Given the description of an element on the screen output the (x, y) to click on. 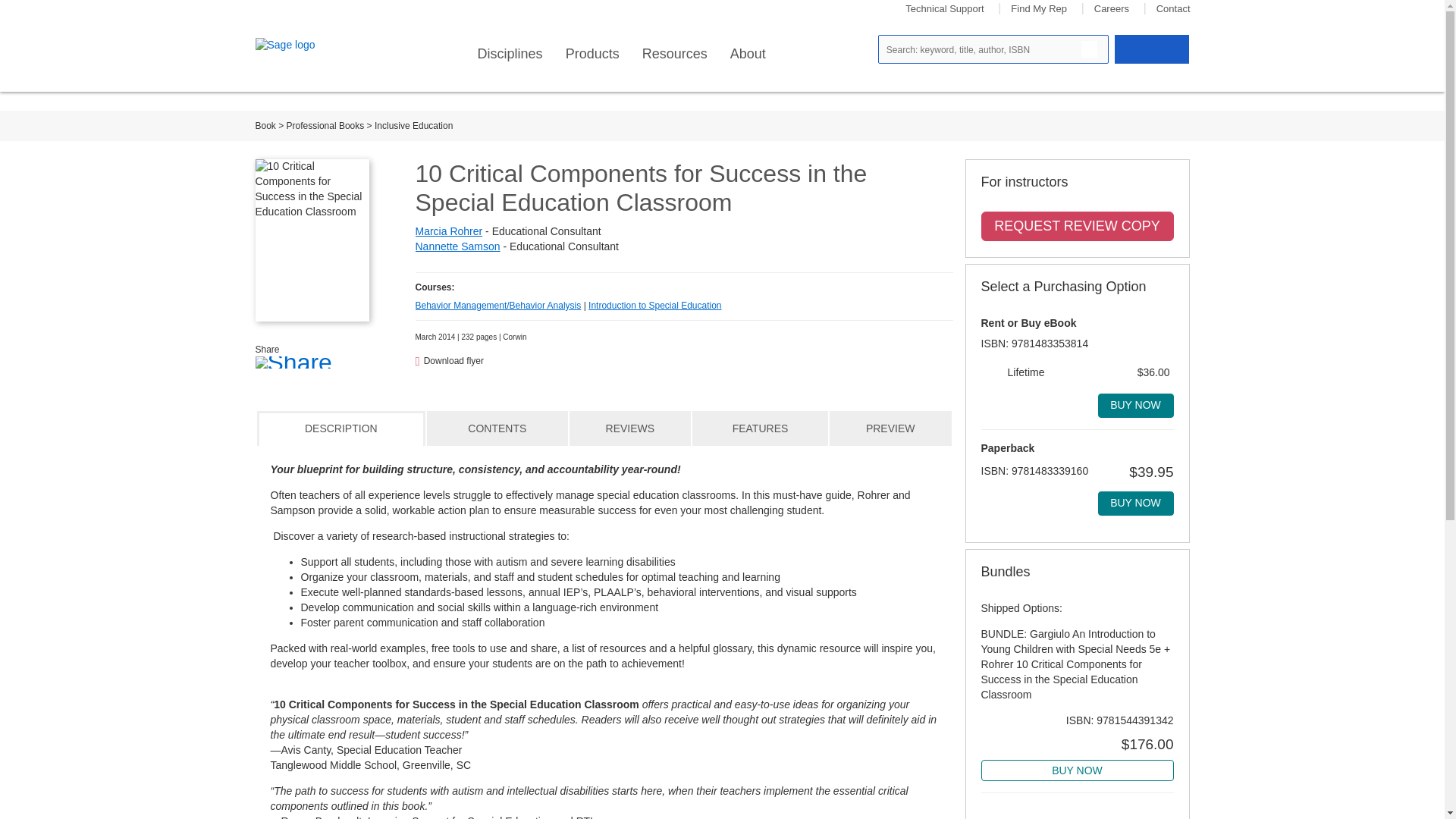
Buy now (1135, 503)
Buy now (1077, 770)
Disciplines (509, 53)
Careers (1111, 8)
Search (1089, 48)
Contact (1173, 8)
Sage logo: link back to homepage (309, 45)
29 (991, 372)
Technical Support (944, 8)
Find My Rep (1038, 8)
Buy now (1135, 405)
Request review copy (1077, 226)
